Given the description of an element on the screen output the (x, y) to click on. 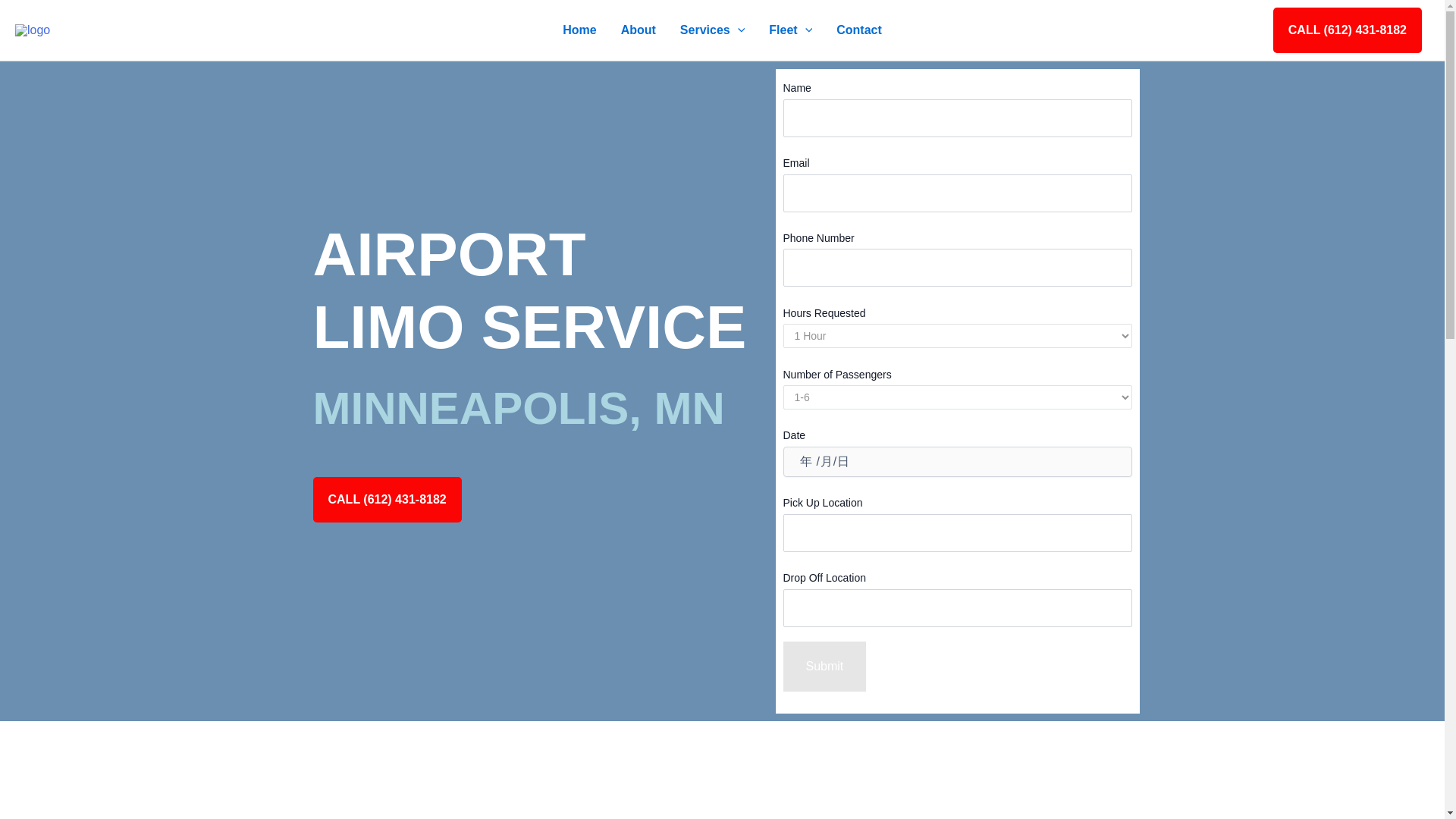
Contact (858, 30)
About (638, 30)
Submit (824, 666)
Services (712, 30)
Home (579, 30)
Fleet (790, 30)
